Given the description of an element on the screen output the (x, y) to click on. 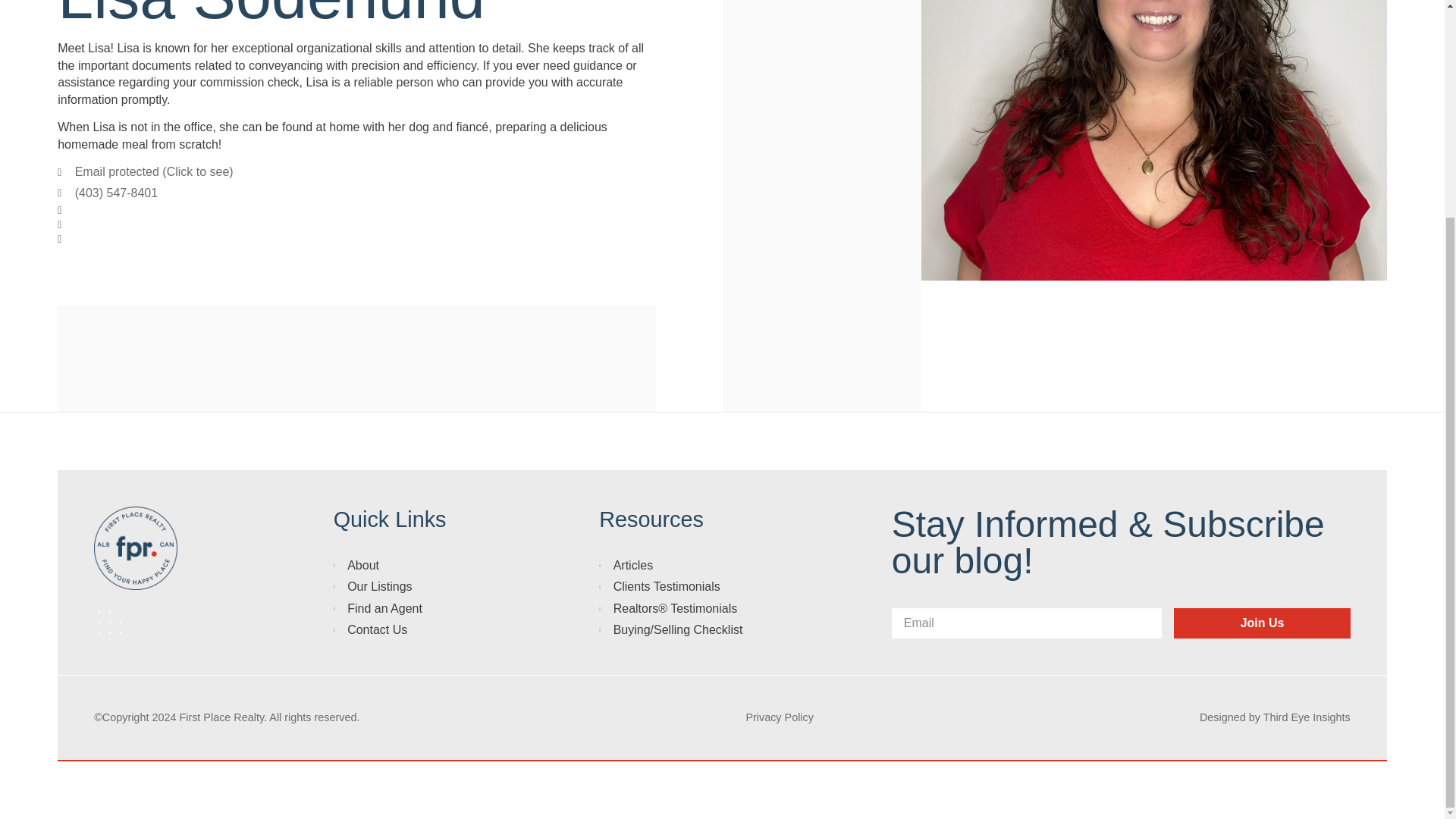
Our Listings (430, 586)
Clients Testimonials (708, 586)
Designed by Third Eye Insights (1275, 717)
Join Us (1261, 623)
About (430, 565)
Find an Agent (430, 608)
Privacy Policy (779, 717)
Articles (708, 565)
Contact Us (430, 629)
